Given the description of an element on the screen output the (x, y) to click on. 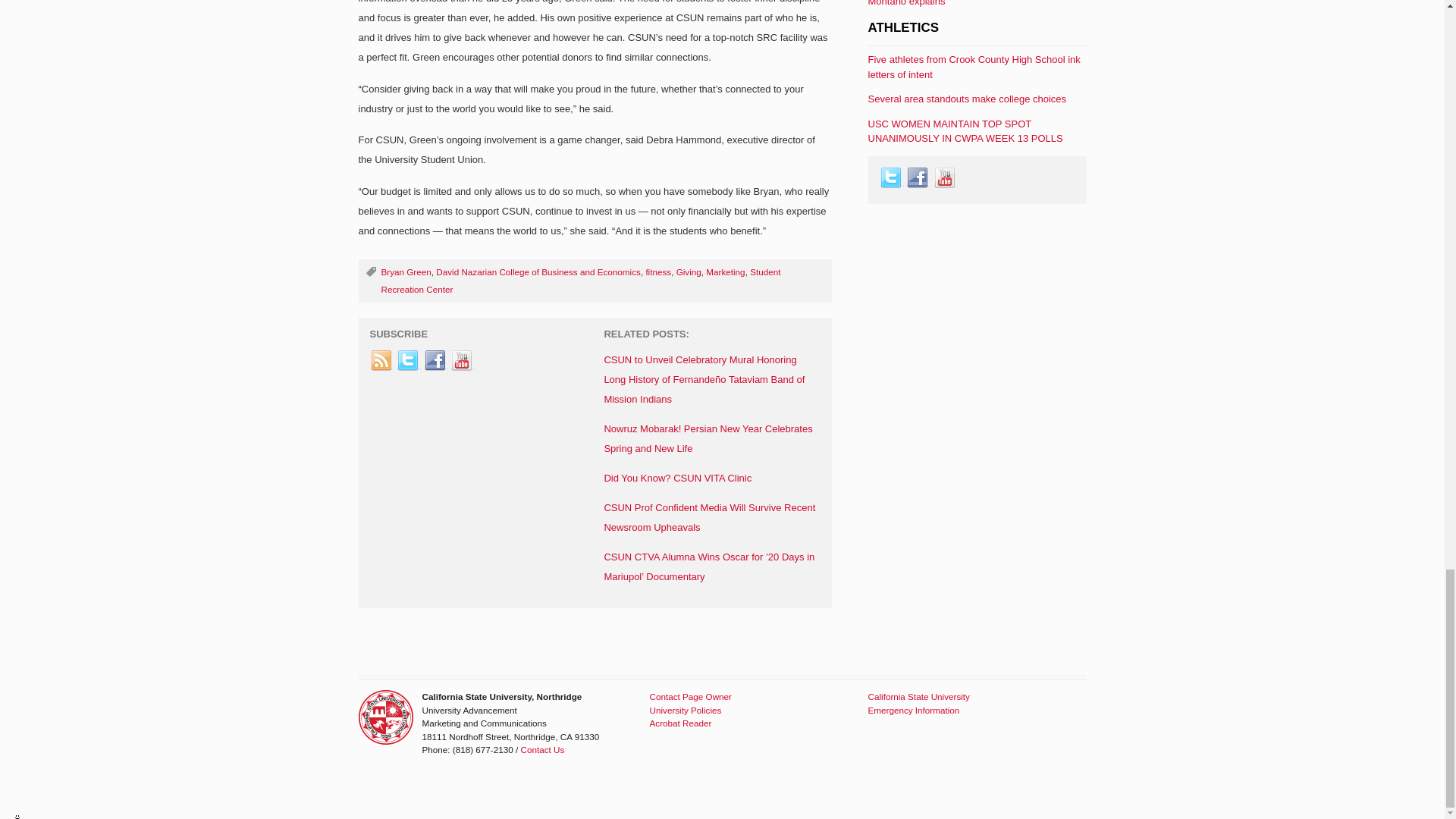
Did You Know? CSUN VITA Clinic (677, 478)
Giving (689, 271)
Twitter (408, 360)
David Nazarian College of Business and Economics (537, 271)
Facebook (435, 360)
Bryan Green (405, 271)
YouTube (461, 360)
RSS (381, 360)
Marketing (725, 271)
fitness (658, 271)
Student Recreation Center (580, 280)
